Given the description of an element on the screen output the (x, y) to click on. 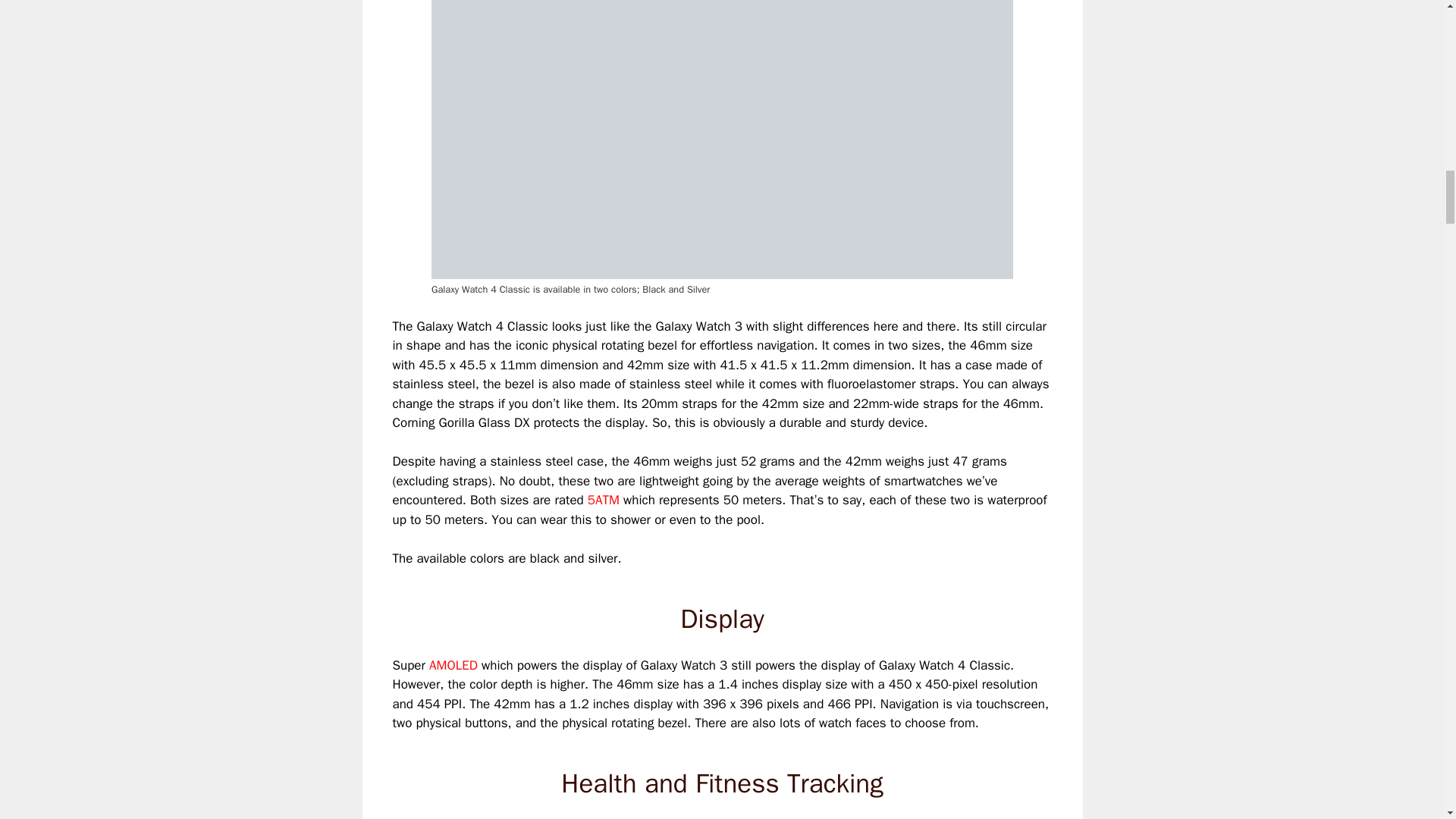
water resistance rating definition (604, 499)
AMOLED (453, 665)
